Given the description of an element on the screen output the (x, y) to click on. 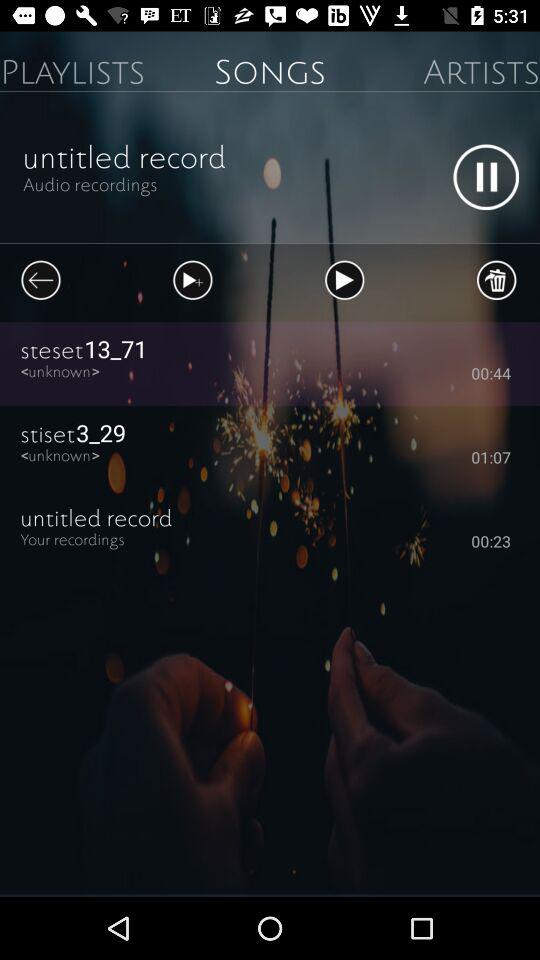
pause/play the sound file (486, 177)
